Given the description of an element on the screen output the (x, y) to click on. 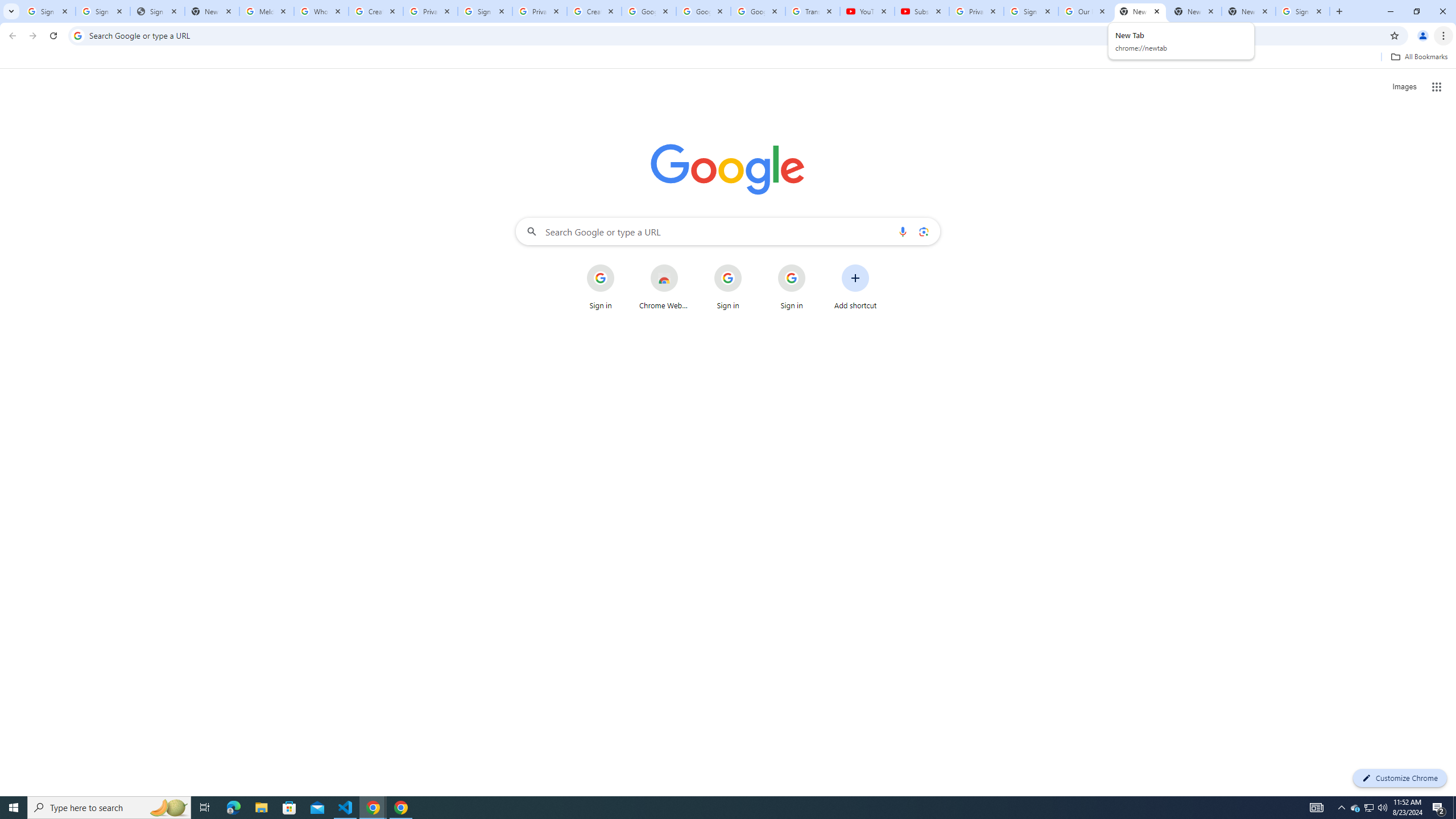
More actions for Sign in shortcut (814, 265)
Bookmarks (728, 58)
Sign in - Google Accounts (1030, 11)
Create your Google Account (375, 11)
Chrome Web Store (663, 287)
Search by voice (902, 230)
Add shortcut (855, 287)
